Given the description of an element on the screen output the (x, y) to click on. 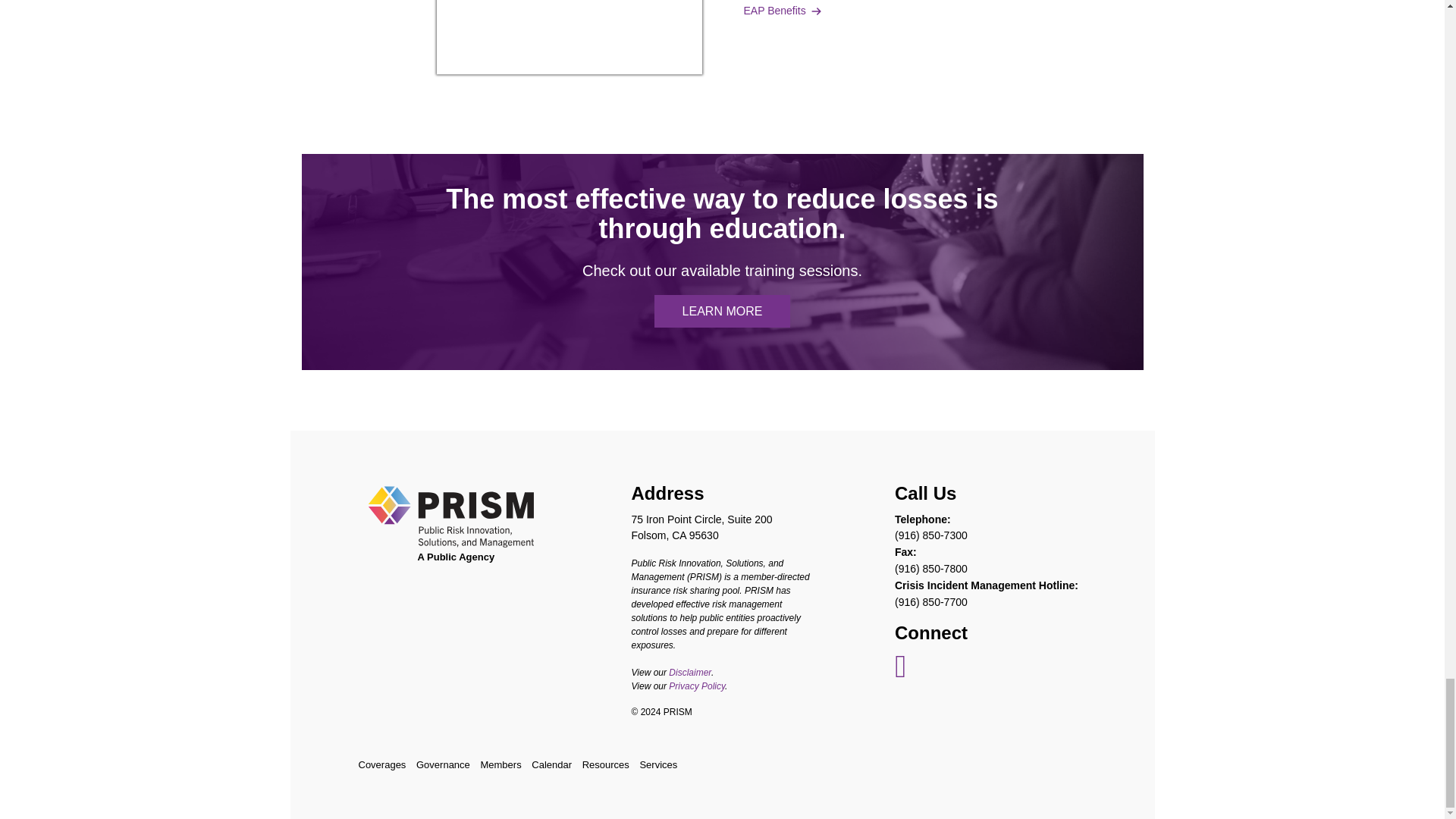
Follow us on LinkedIn! (900, 673)
